Given the description of an element on the screen output the (x, y) to click on. 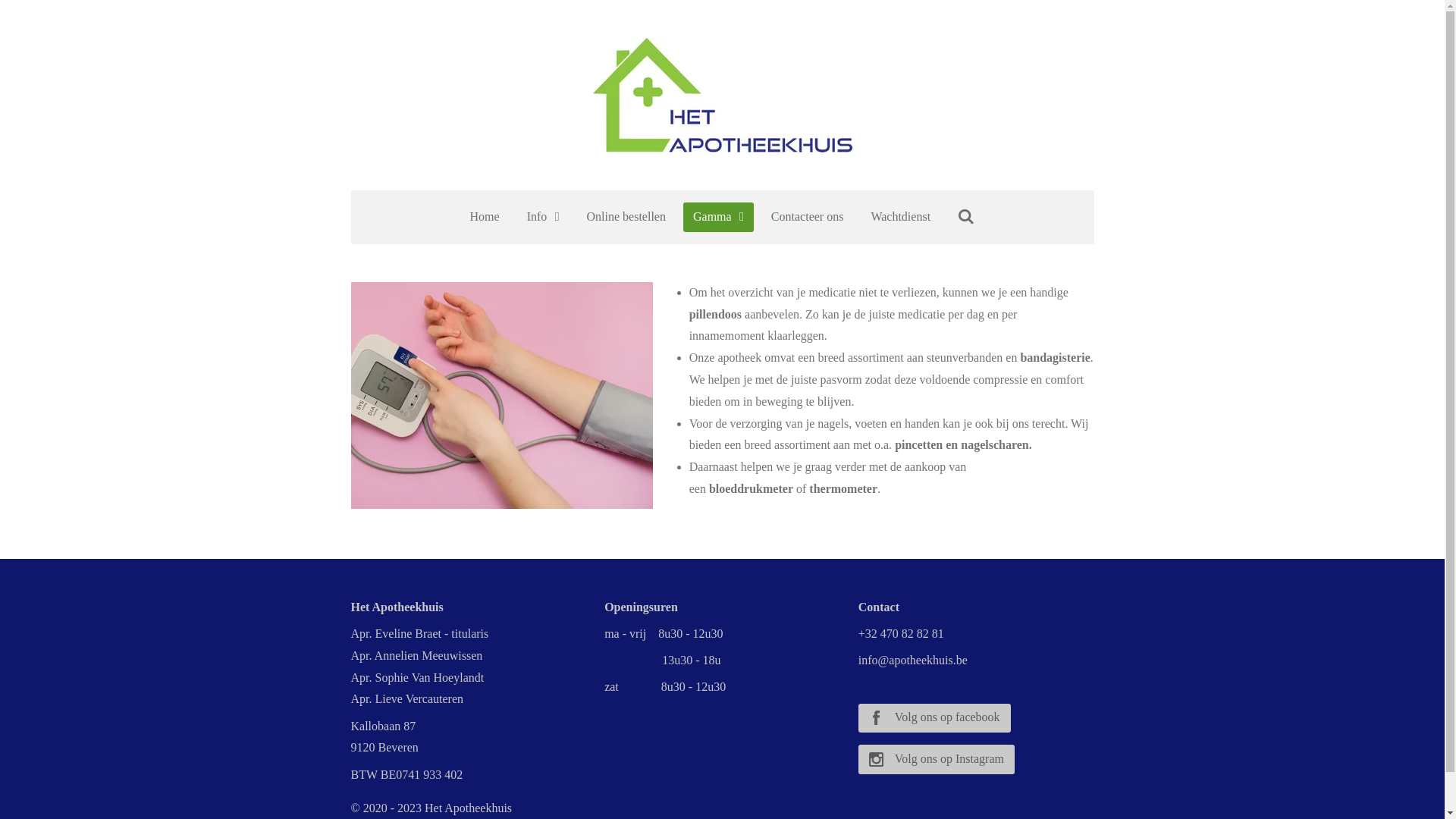
Wachtdienst Element type: text (900, 217)
Het Apotheekhuis Element type: hover (722, 94)
Home Element type: text (484, 217)
Volg ons op facebook Element type: text (934, 717)
Gamma Element type: text (718, 217)
Volg ons op Instagram Element type: text (936, 758)
Online bestellen Element type: text (626, 217)
Info Element type: text (543, 217)
Contacteer ons Element type: text (807, 217)
Zoeken Element type: hover (965, 217)
